Given the description of an element on the screen output the (x, y) to click on. 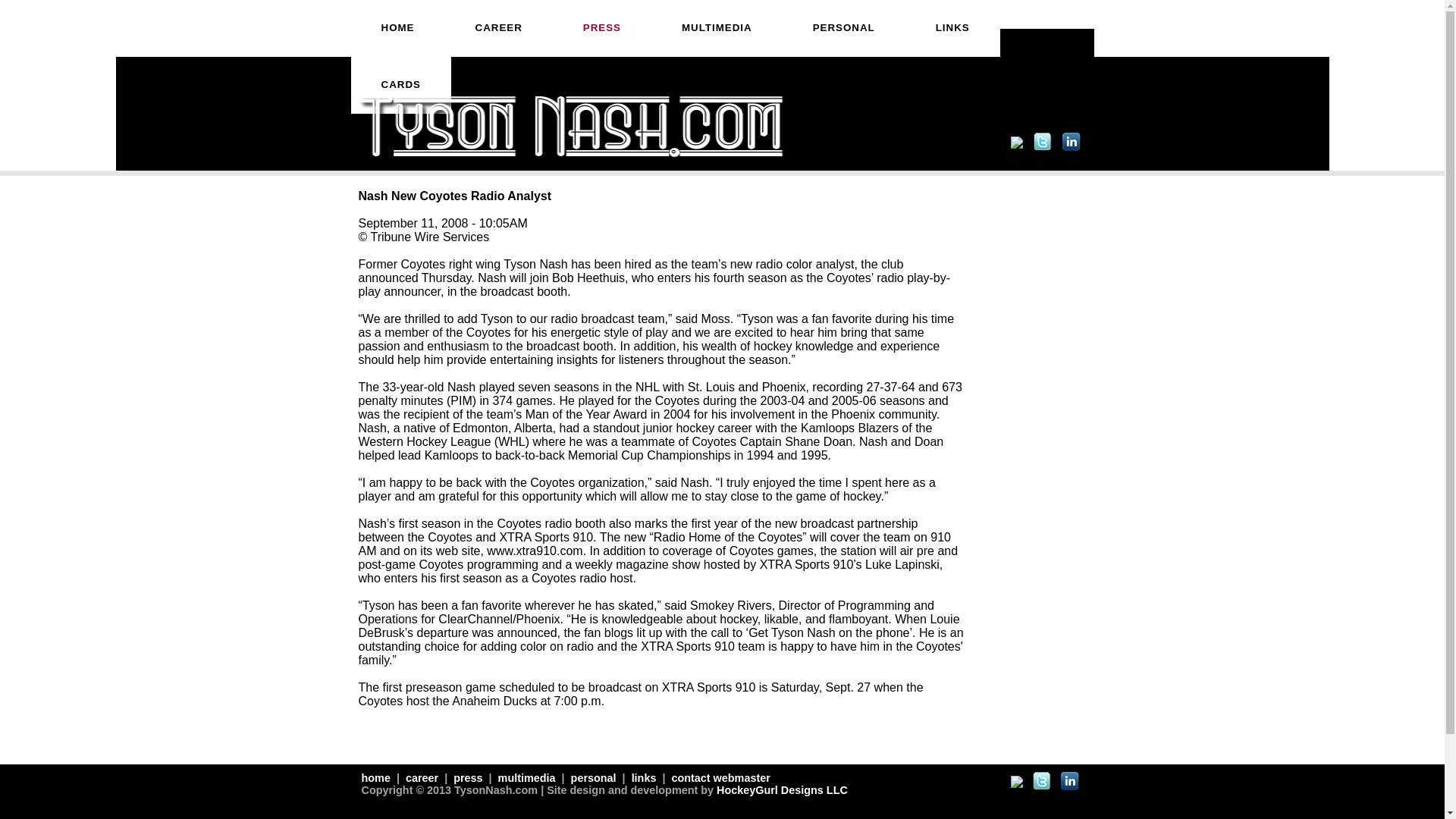
PERSONAL (844, 28)
HockeyGurl Designs LLC (781, 789)
multimedia (526, 777)
CAREER (497, 28)
links  (645, 777)
LINKS (952, 28)
personal (592, 777)
CARDS (399, 84)
MULTIMEDIA (716, 28)
press (466, 777)
home  (377, 777)
HOME (397, 28)
PRESS (601, 28)
 contact webmaster (719, 777)
career (422, 777)
